Given the description of an element on the screen output the (x, y) to click on. 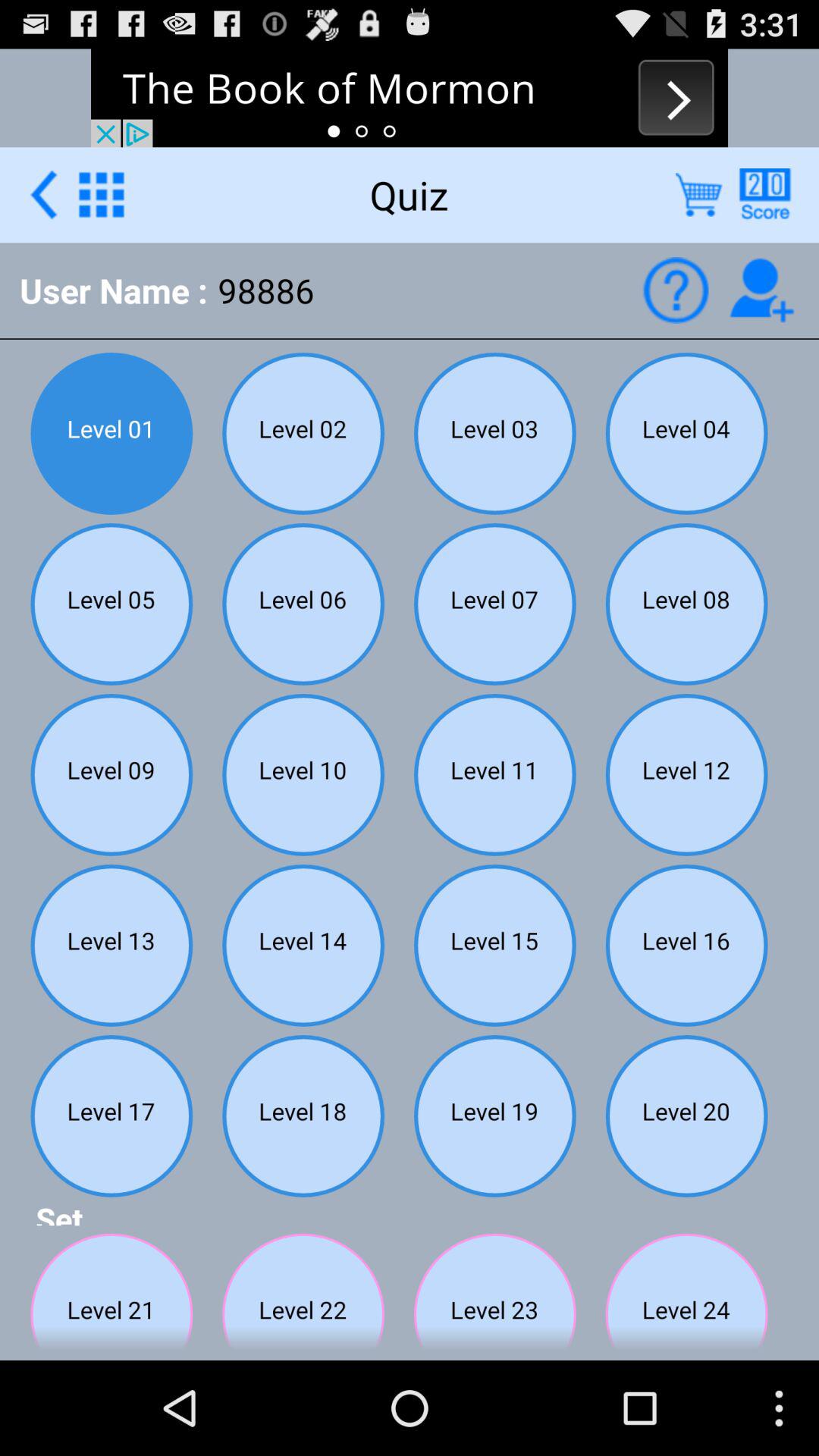
go to customize (101, 194)
